Given the description of an element on the screen output the (x, y) to click on. 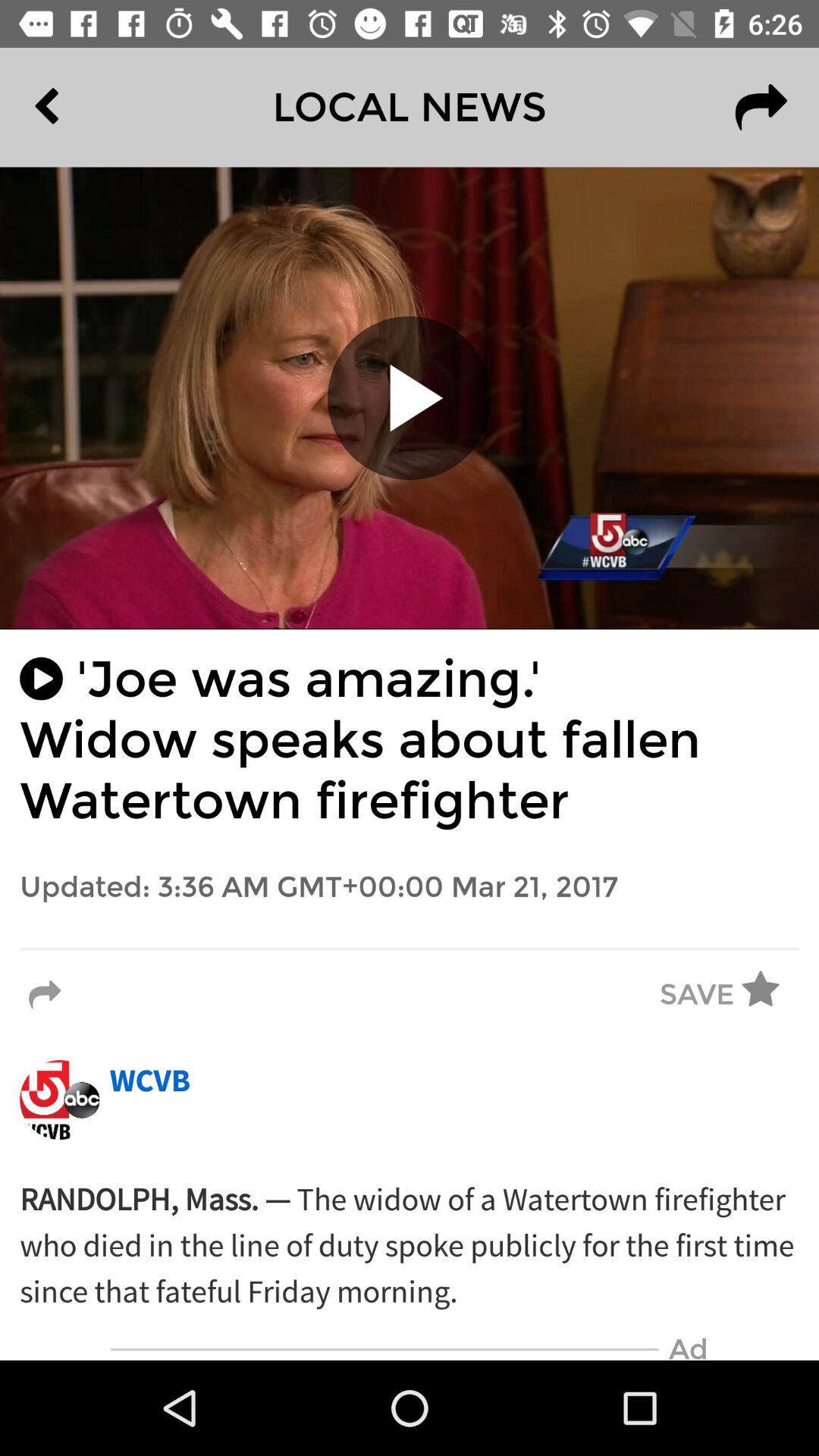
select icon at the top right corner (761, 107)
